Given the description of an element on the screen output the (x, y) to click on. 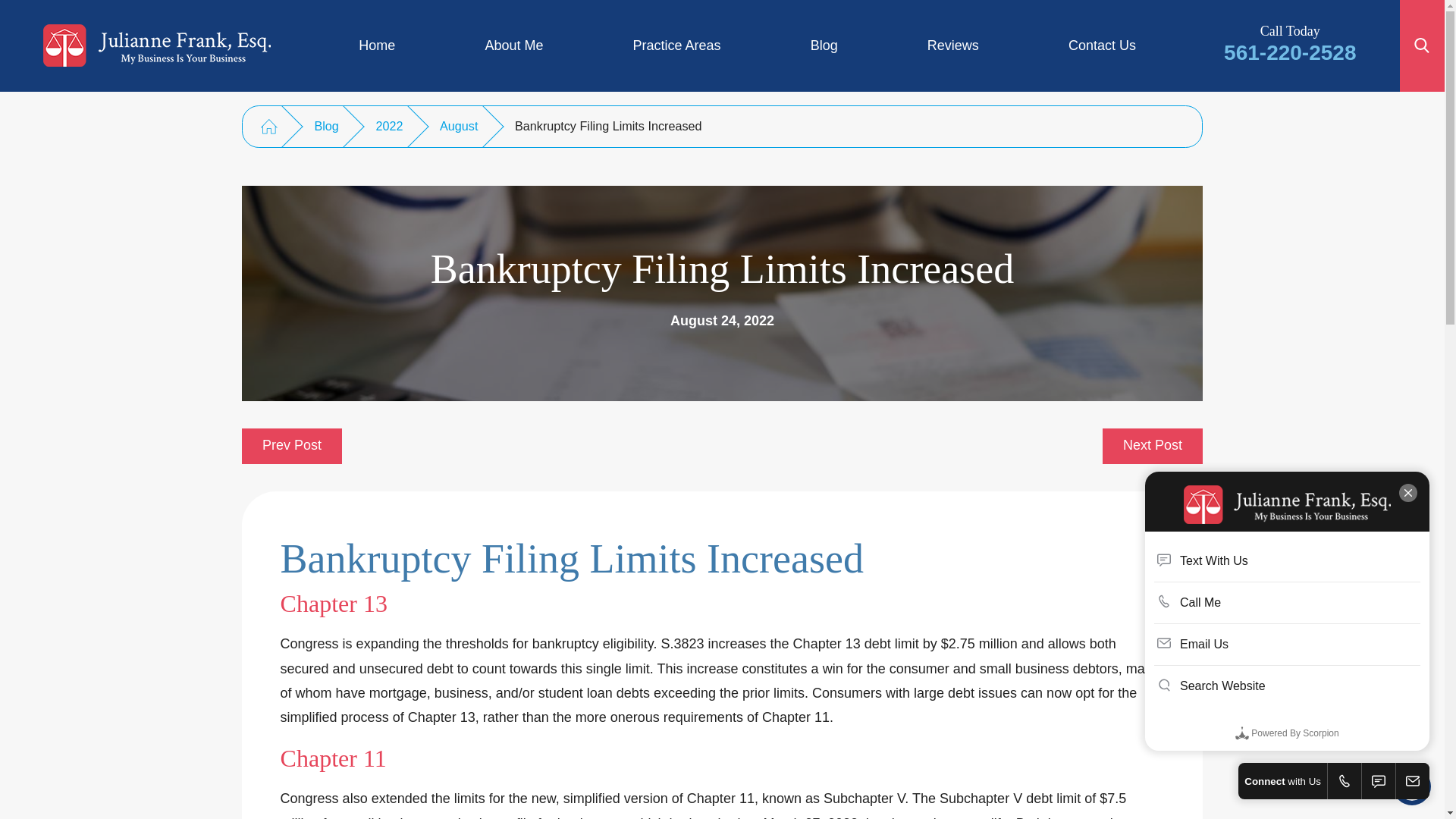
561-220-2528 (1289, 52)
Contact Us (1101, 45)
Julianne Frank, Esq. (156, 45)
About Me (513, 45)
Home (376, 45)
Search Icon (1421, 45)
Reviews (952, 45)
Open the accessibility options menu (1412, 786)
Go Home (269, 126)
Blog (823, 45)
